Given the description of an element on the screen output the (x, y) to click on. 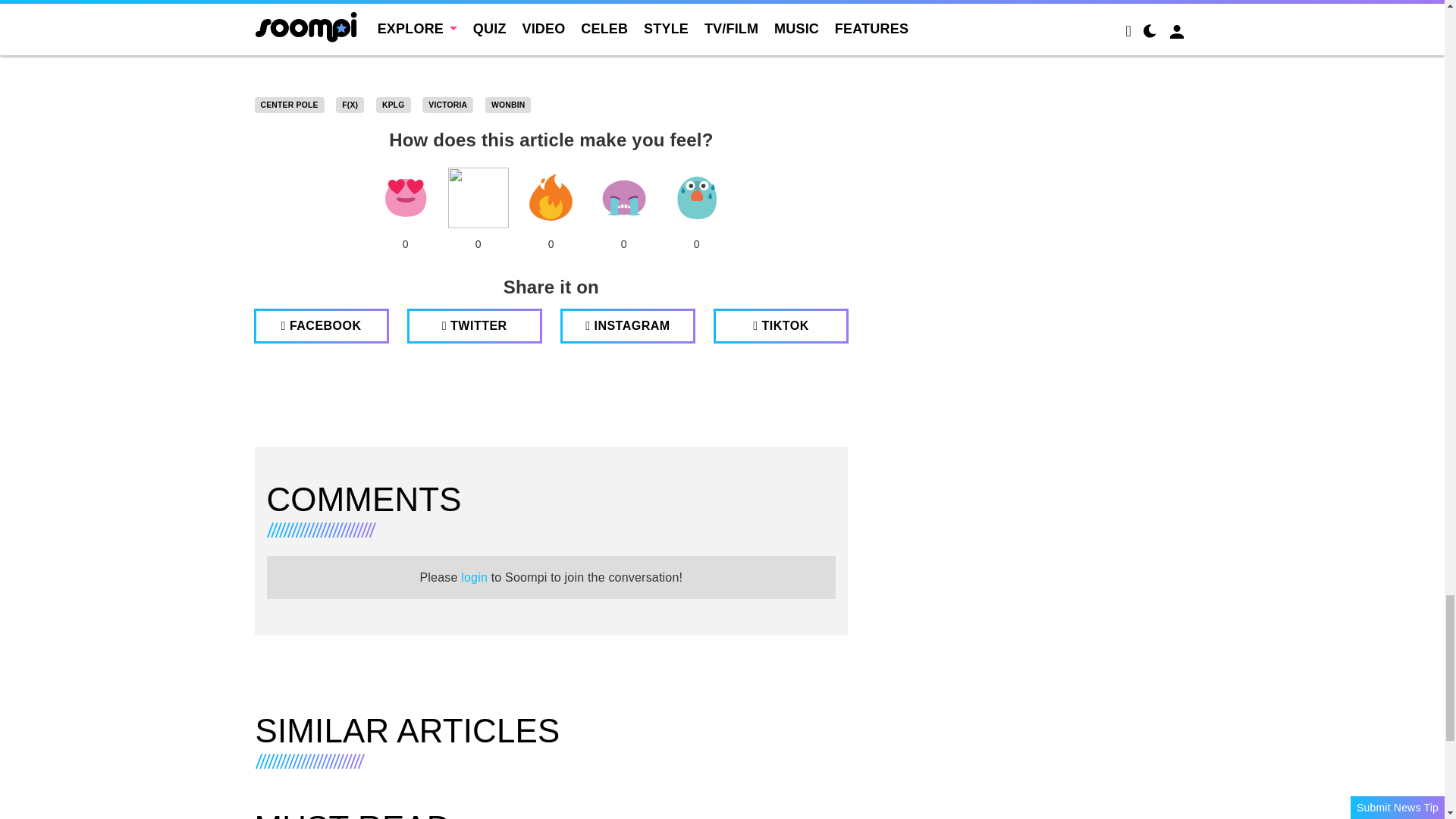
center pole (289, 105)
Wonbin (507, 105)
Crying (623, 197)
Heart (405, 197)
OMG (696, 197)
WONBIN (507, 105)
KPLG (392, 105)
fire (550, 197)
VICTORIA (447, 105)
CENTER POLE (289, 105)
cry (623, 197)
Fire (550, 197)
wonbincpvic (551, 41)
heart (405, 197)
KPLG (392, 105)
